Given the description of an element on the screen output the (x, y) to click on. 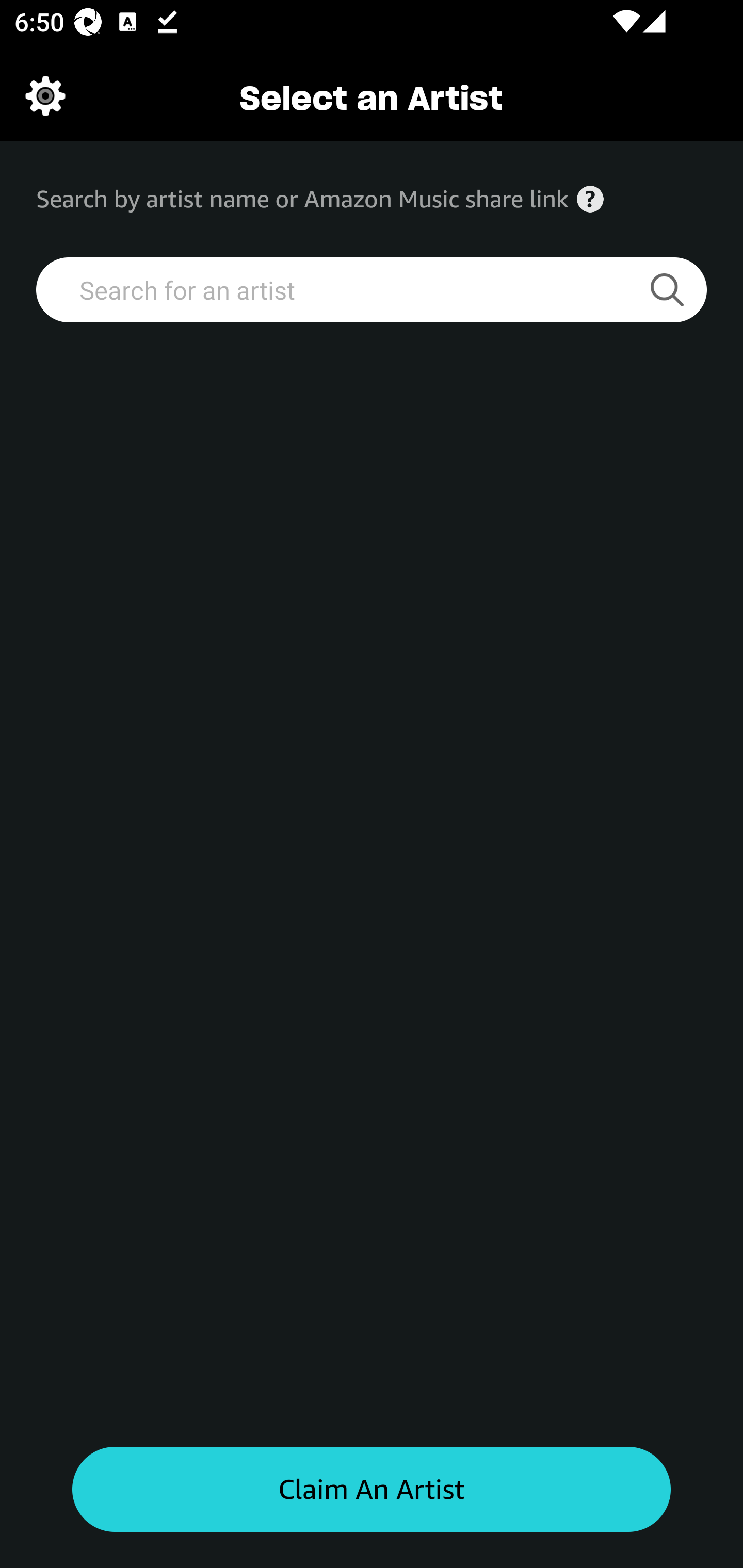
Help  icon (589, 199)
Claim an artist button Claim An Artist (371, 1489)
